Given the description of an element on the screen output the (x, y) to click on. 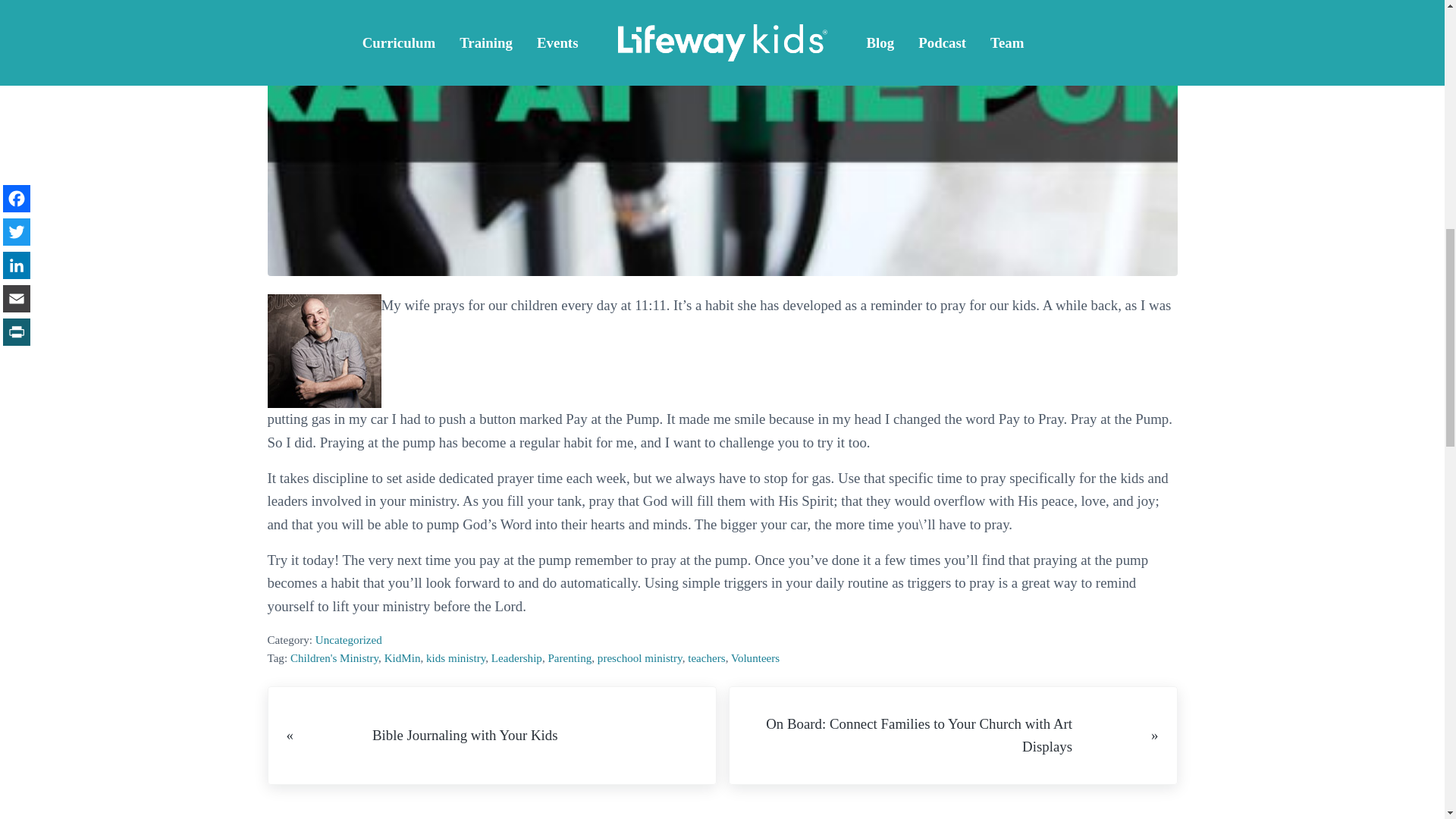
Parenting (569, 657)
teachers (706, 657)
Uncategorized (348, 639)
KidMin (402, 657)
kids ministry (455, 657)
Volunteers (754, 657)
Children's Ministry (333, 657)
Leadership (516, 657)
preschool ministry (639, 657)
